Given the description of an element on the screen output the (x, y) to click on. 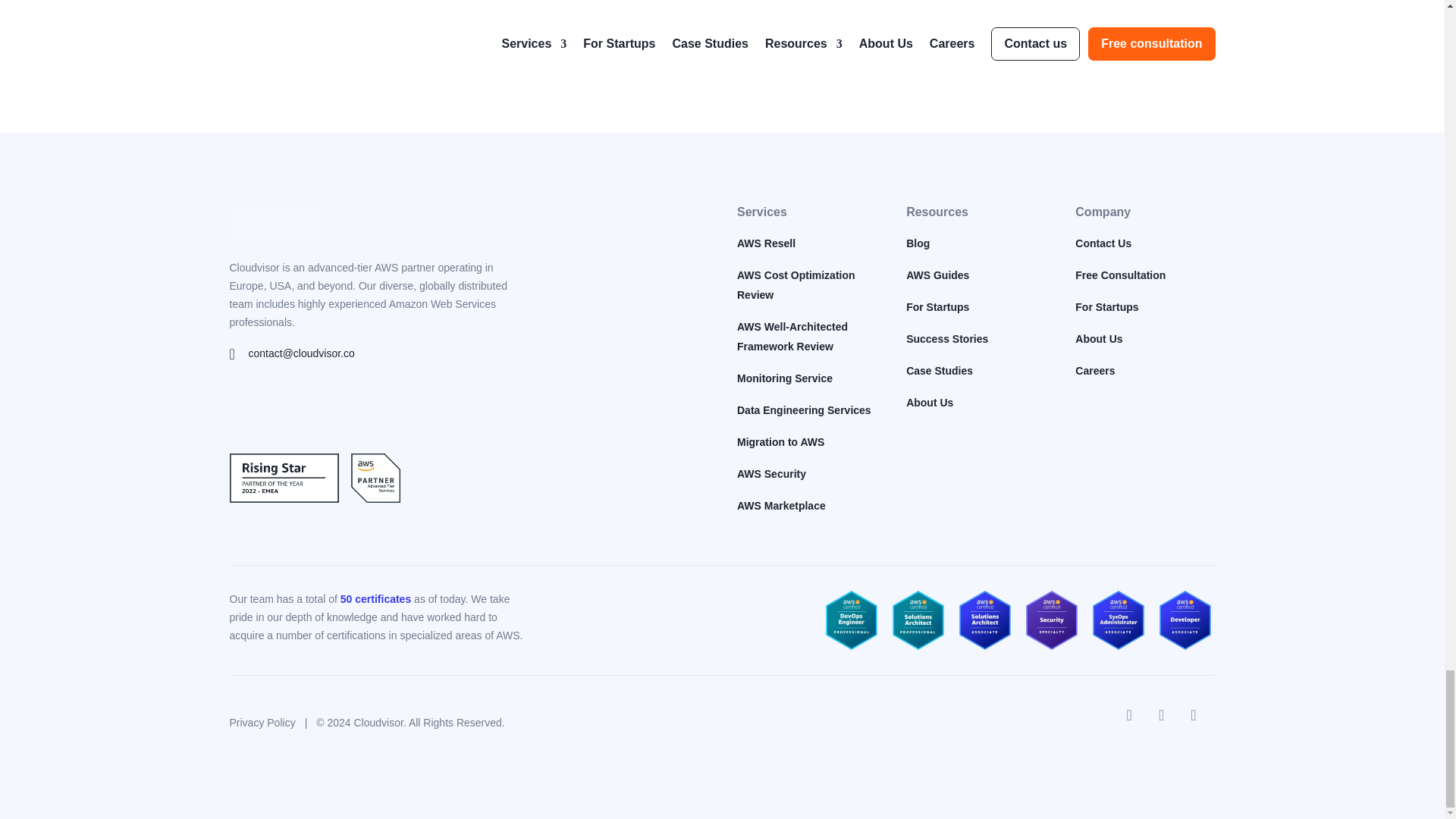
Cloudvisor Privacy Policy (1117, 42)
1 (852, 41)
logo-cloudvisor (274, 224)
badges (313, 498)
